Given the description of an element on the screen output the (x, y) to click on. 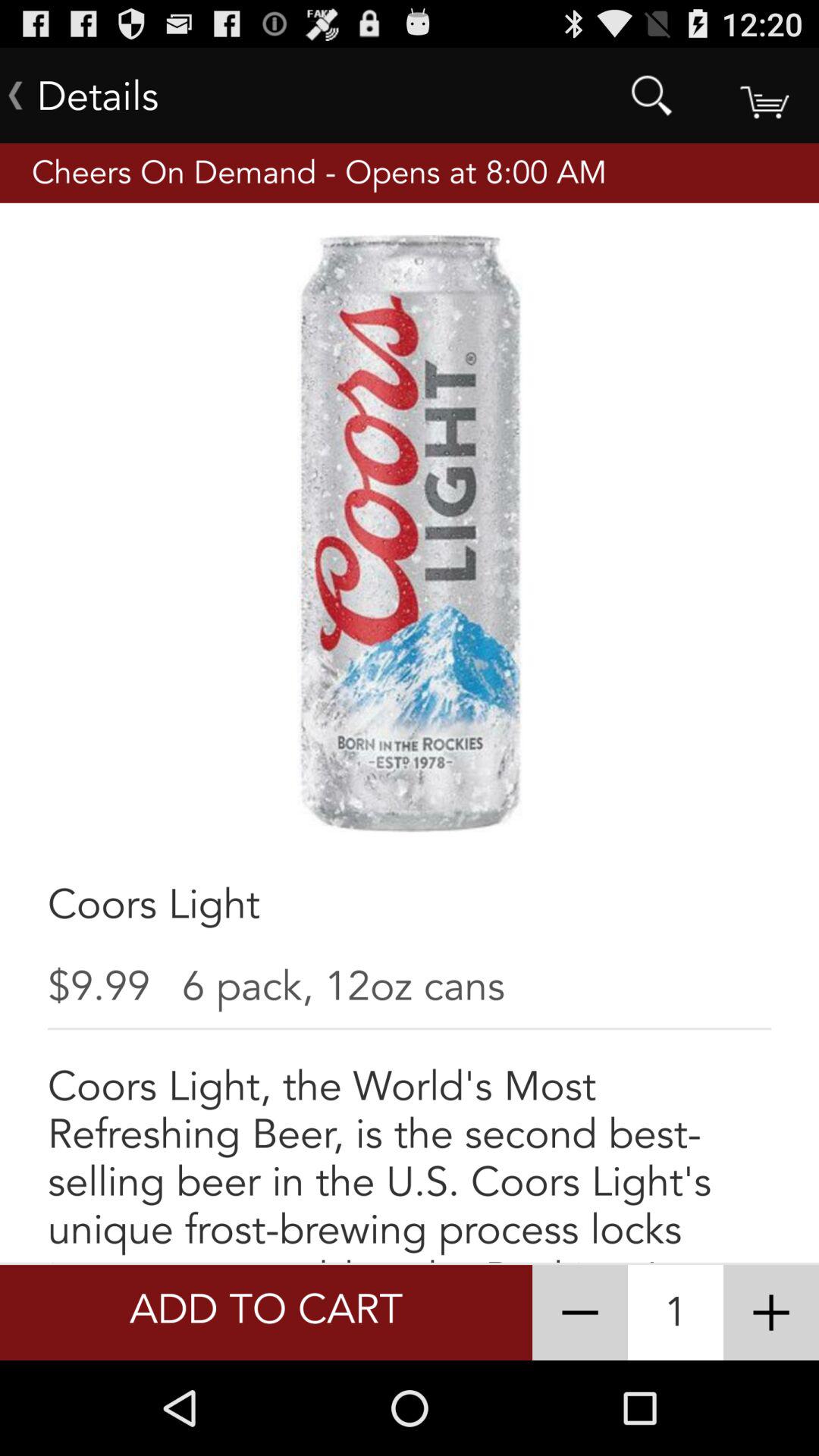
open icon next to 1 icon (579, 1312)
